Given the description of an element on the screen output the (x, y) to click on. 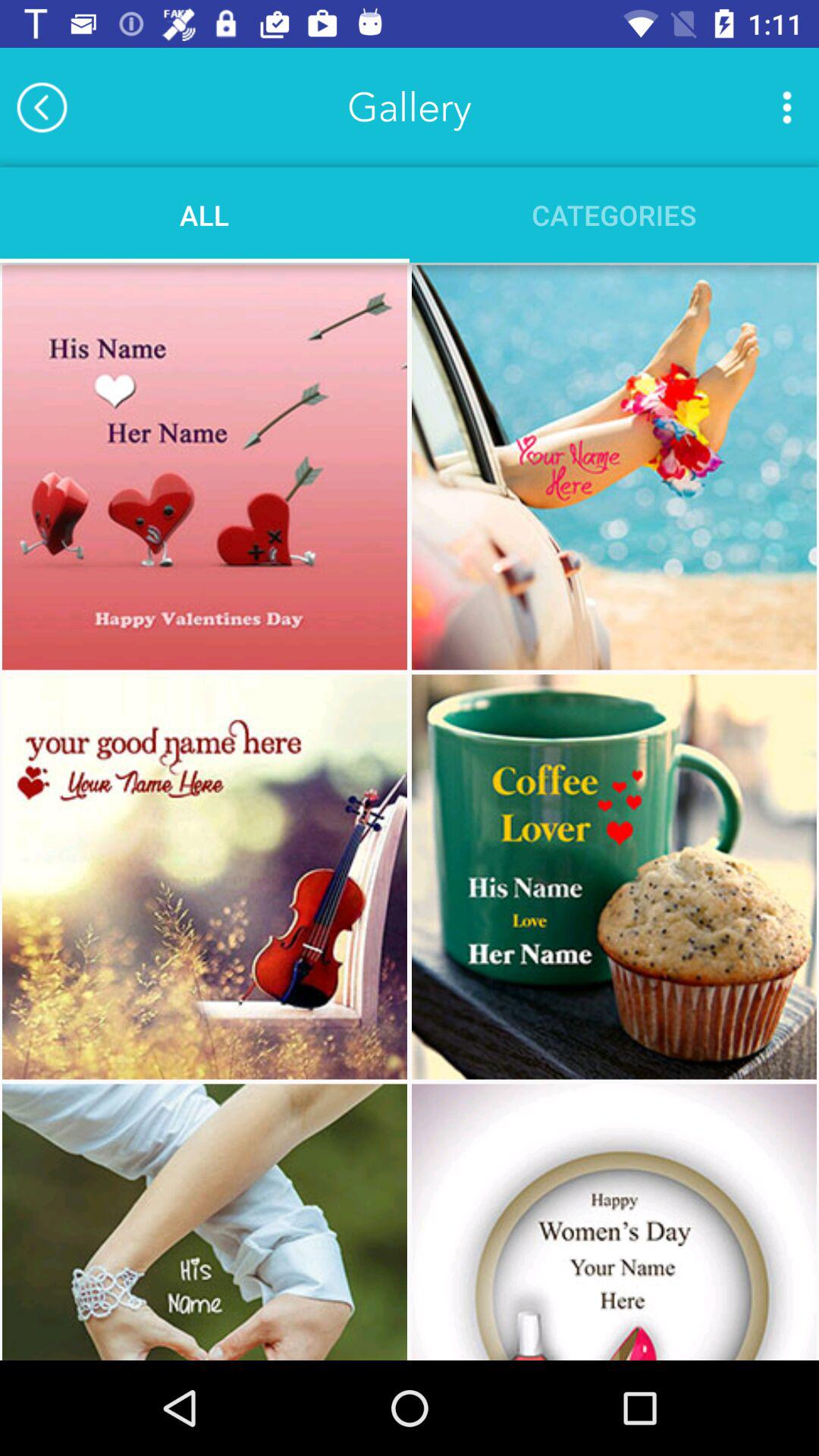
open app options (787, 107)
